Given the description of an element on the screen output the (x, y) to click on. 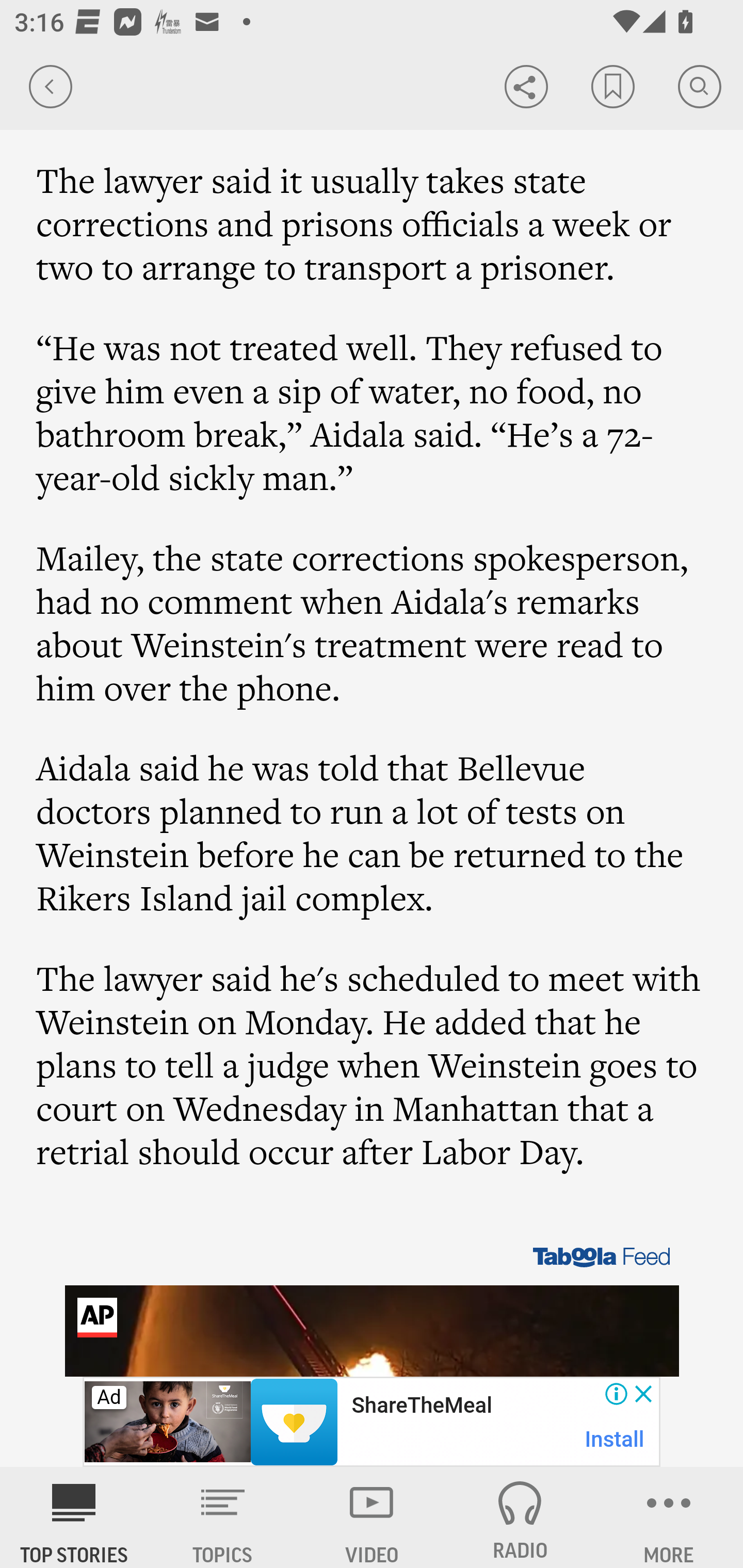
ShareTheMeal (420, 1405)
Install (614, 1438)
AP News TOP STORIES (74, 1517)
TOPICS (222, 1517)
VIDEO (371, 1517)
RADIO (519, 1517)
MORE (668, 1517)
